Given the description of an element on the screen output the (x, y) to click on. 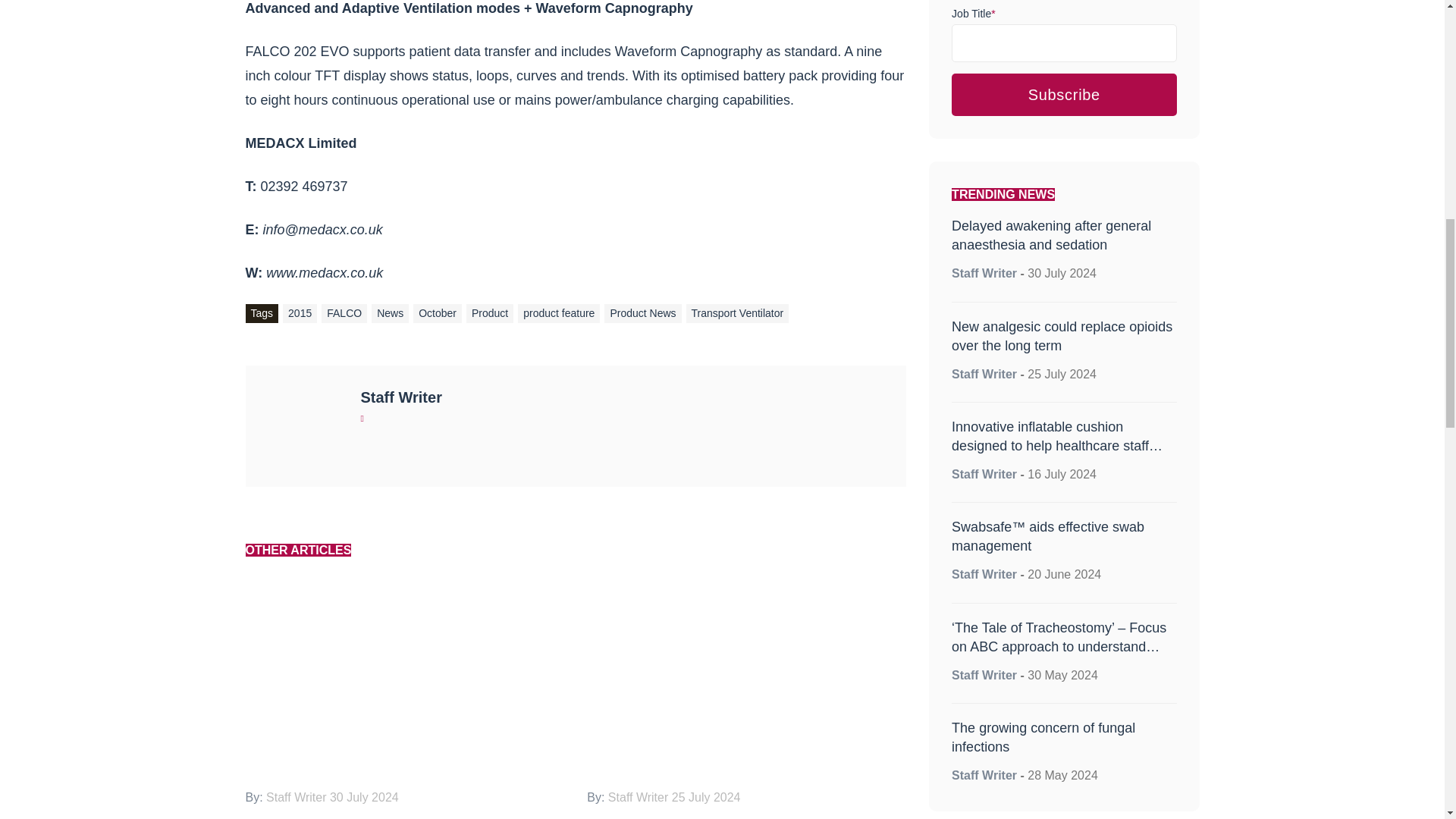
Posts by Staff Writer (984, 273)
Posts by Staff Writer (401, 397)
Posts by Staff Writer (984, 675)
Posts by Staff Writer (984, 574)
Posts by Staff Writer (984, 775)
Posts by Staff Writer (984, 373)
Posts by Staff Writer (984, 473)
Subscribe (1064, 94)
